Given the description of an element on the screen output the (x, y) to click on. 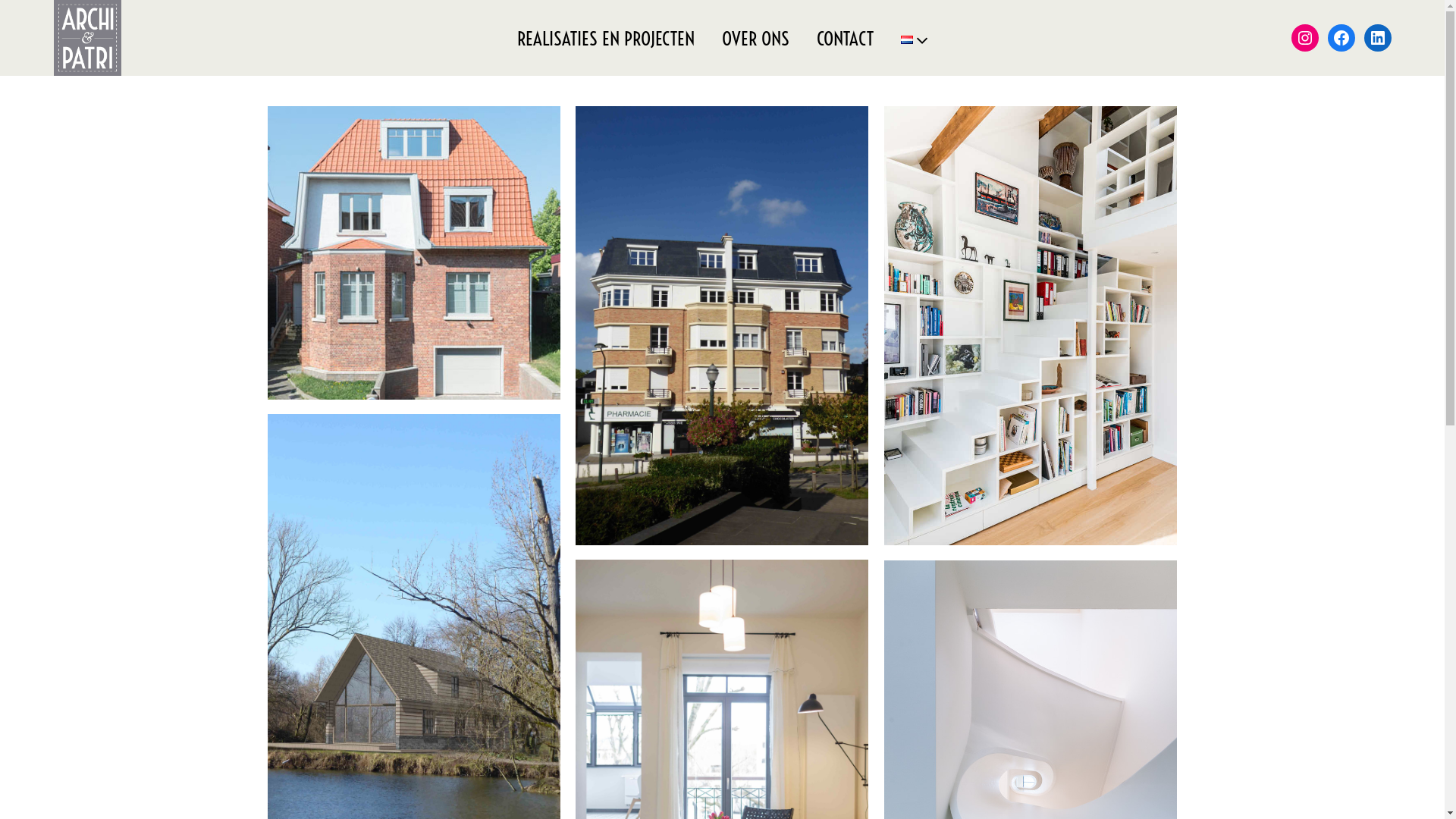
CONTACT Element type: text (845, 37)
Facebook Element type: text (1341, 37)
LinkedIn Element type: text (1377, 37)
OVER ONS Element type: text (755, 37)
Instagram Element type: text (1304, 37)
REALISATIES EN PROJECTEN Element type: text (605, 37)
